Given the description of an element on the screen output the (x, y) to click on. 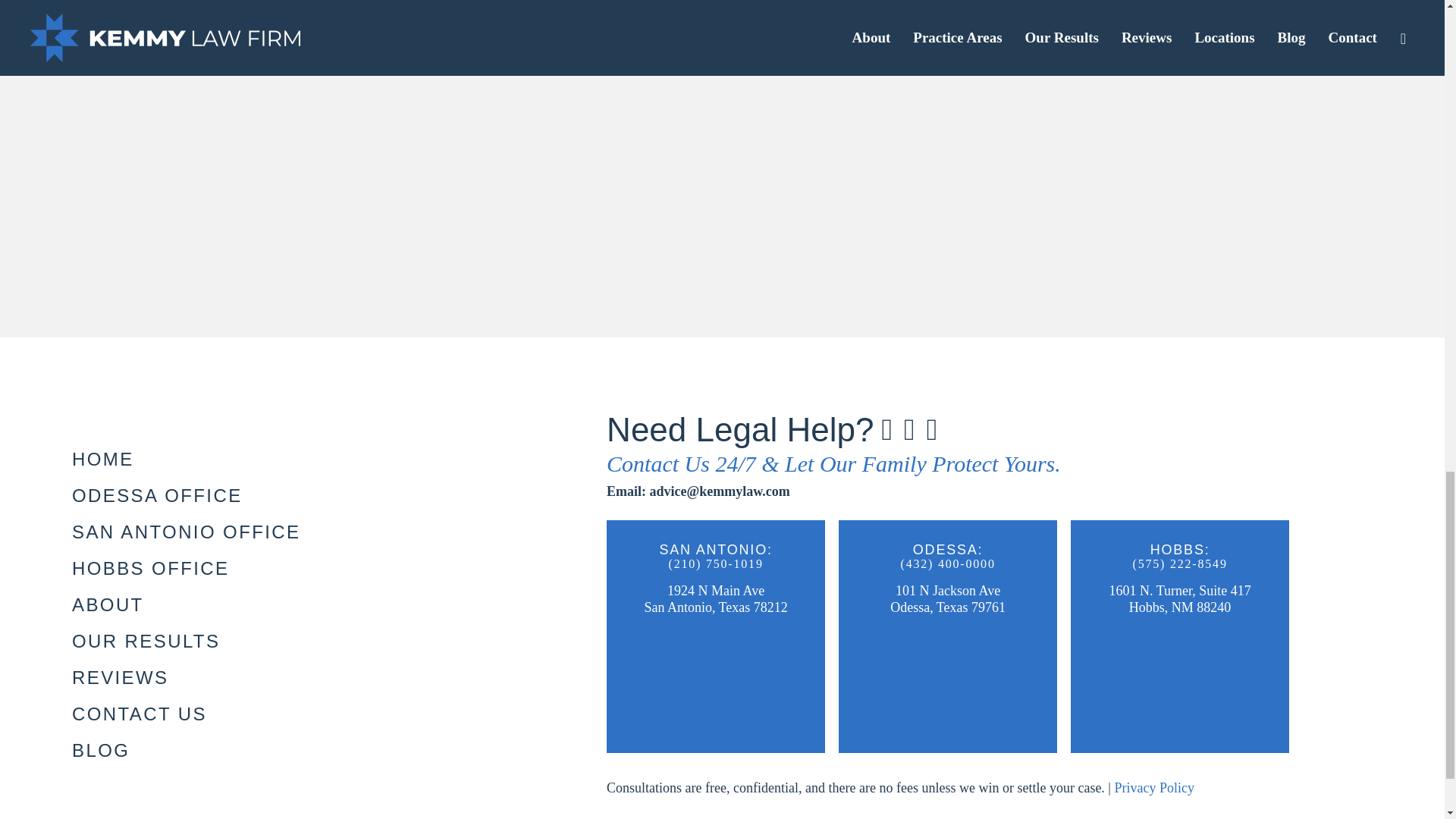
Call Kemmy Law Firm Today (715, 563)
Call Kemmy Law Firm Today (1179, 563)
Our Privacy Policy (1153, 787)
Email Kemmy Law Firm (698, 491)
Call Kemmy Law Firm Today (947, 563)
